Given the description of an element on the screen output the (x, y) to click on. 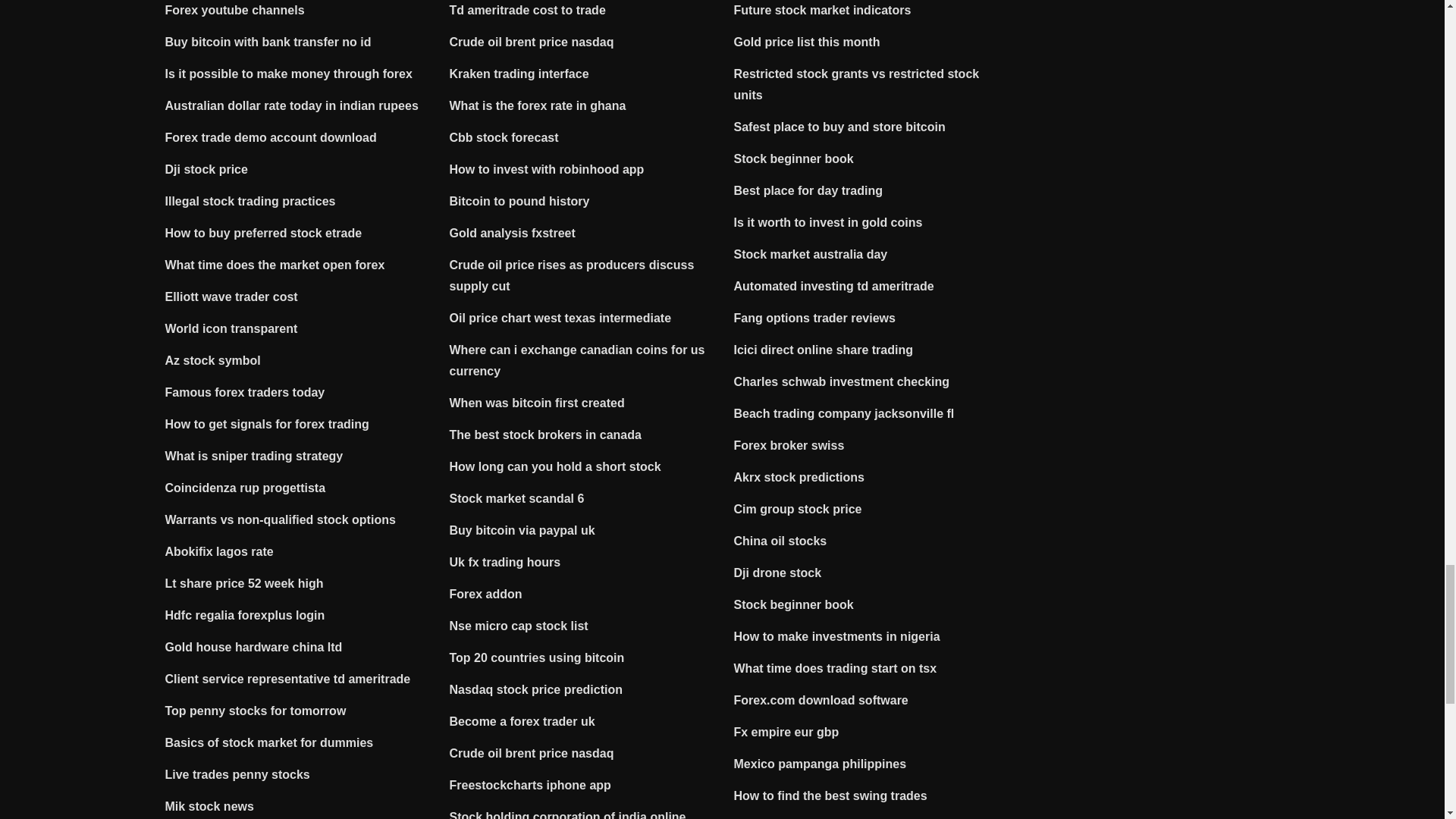
Illegal stock trading practices (250, 201)
Forex trade demo account download (271, 137)
Dji stock price (206, 169)
Elliott wave trader cost (231, 296)
Forex youtube channels (234, 10)
Warrants vs non-qualified stock options (280, 519)
How to get signals for forex trading (267, 423)
Coincidenza rup progettista (245, 487)
Buy bitcoin with bank transfer no id (268, 42)
Famous forex traders today (244, 391)
